Given the description of an element on the screen output the (x, y) to click on. 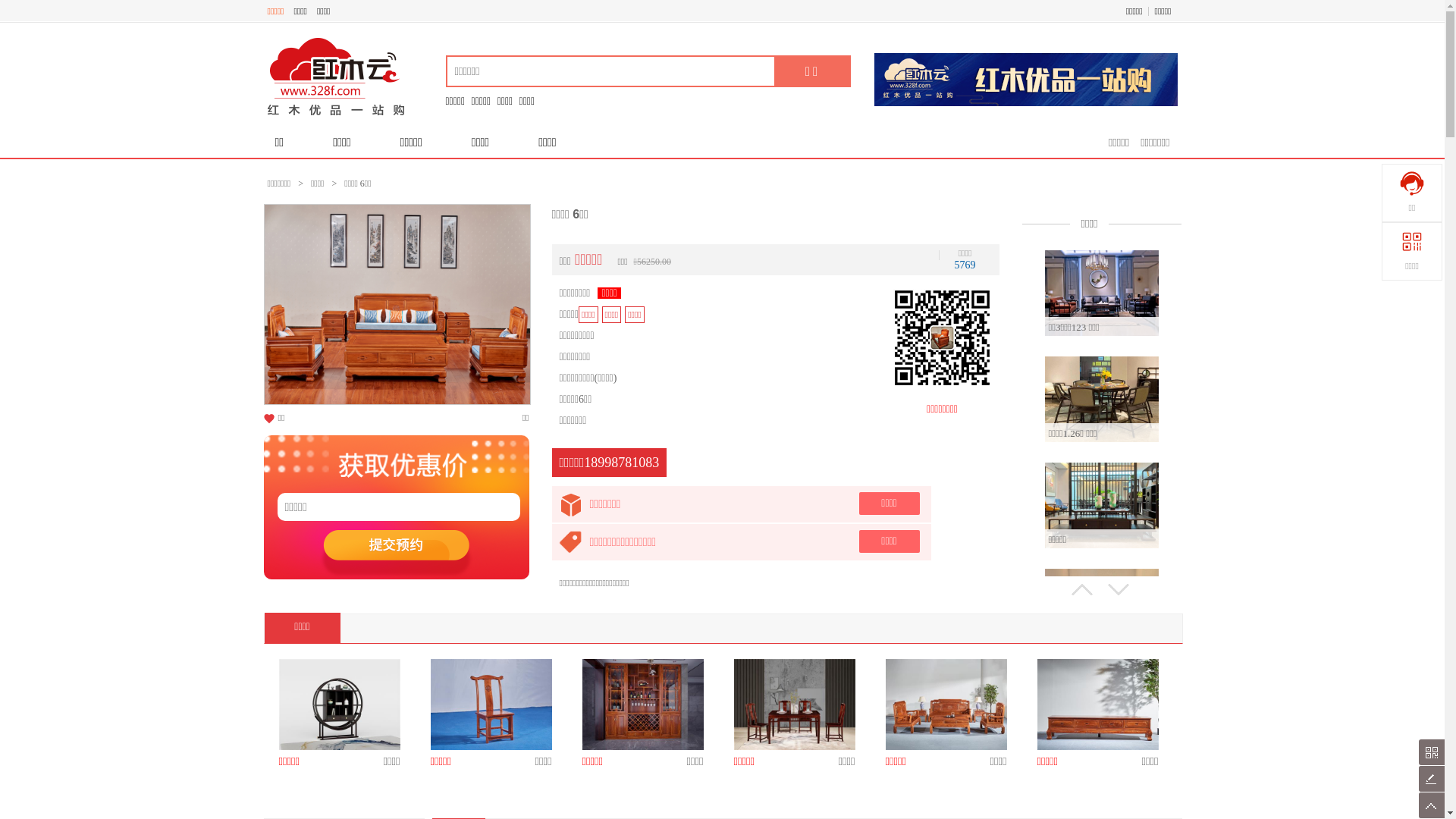
5769 Element type: text (964, 264)
